Given the description of an element on the screen output the (x, y) to click on. 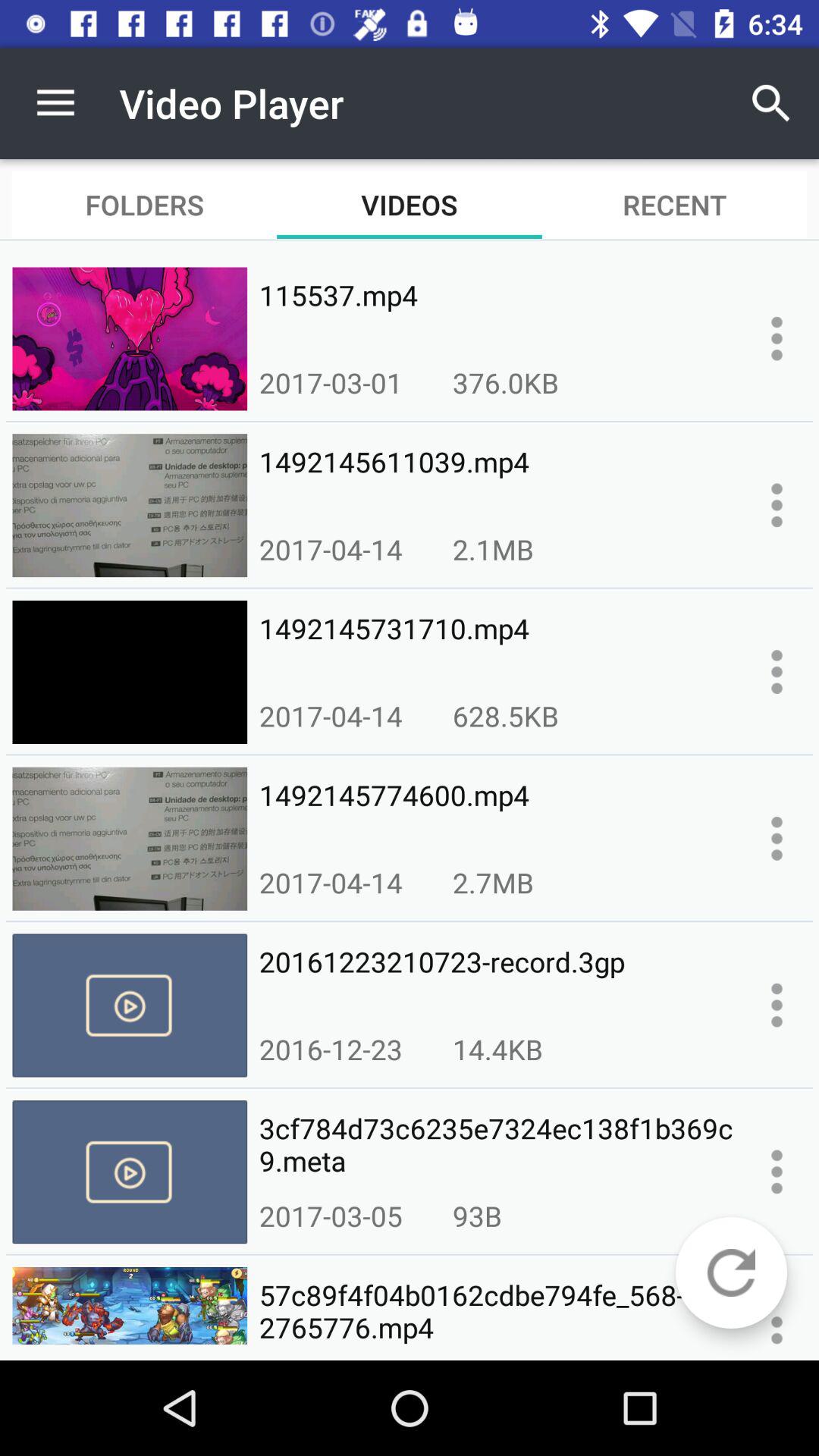
options (776, 338)
